Given the description of an element on the screen output the (x, y) to click on. 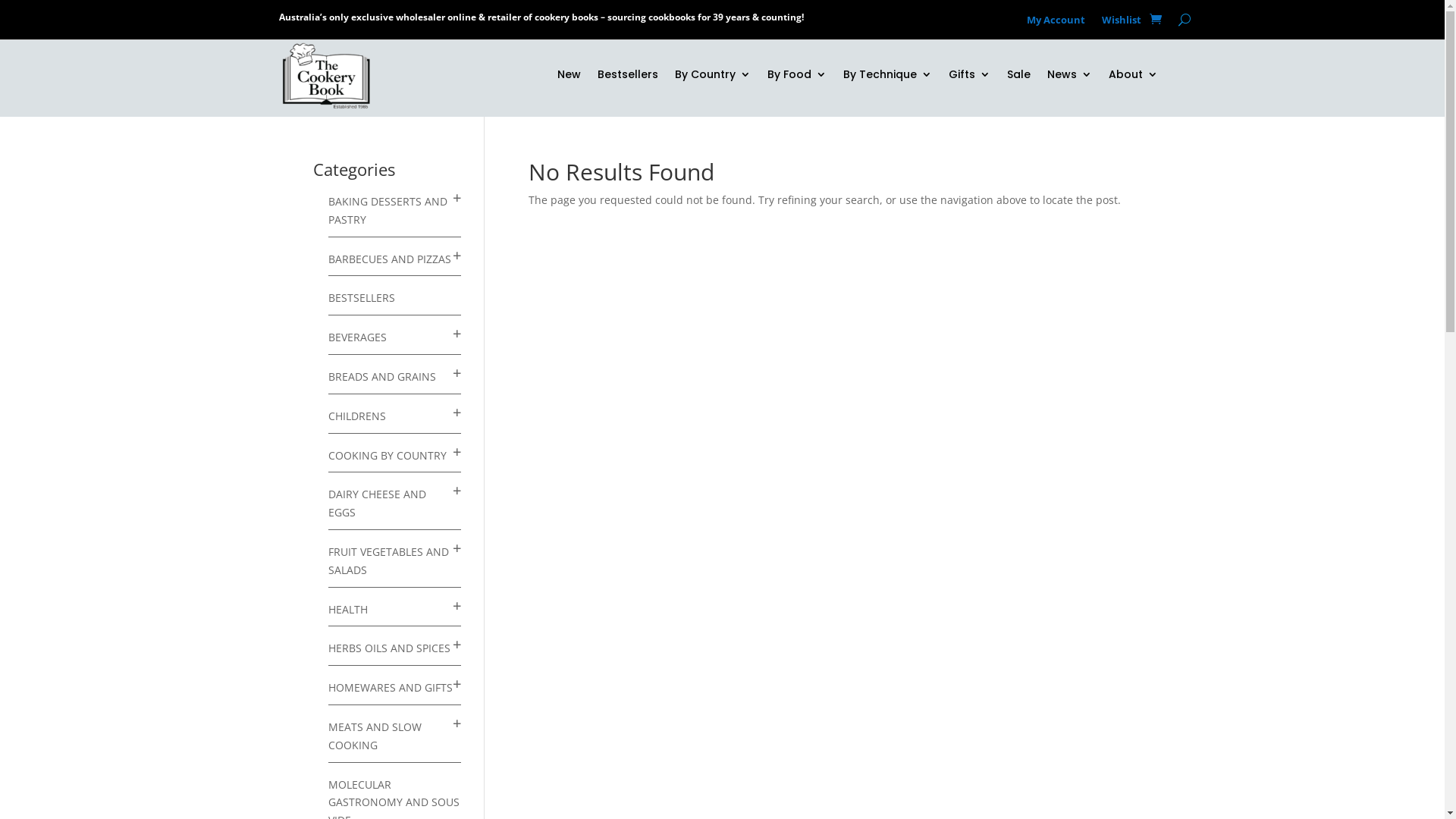
By Country Element type: text (712, 77)
By Technique Element type: text (887, 77)
Bestsellers Element type: text (627, 77)
BREADS AND GRAINS Element type: text (381, 376)
CHILDRENS Element type: text (356, 415)
Sale Element type: text (1018, 77)
Gifts Element type: text (969, 77)
cookery_logo Element type: hover (326, 76)
BEVERAGES Element type: text (356, 336)
FRUIT VEGETABLES AND SALADS Element type: text (387, 560)
About Element type: text (1132, 77)
Wishlist Element type: text (1121, 22)
BESTSELLERS Element type: text (360, 297)
News Element type: text (1069, 77)
BAKING DESSERTS AND PASTRY Element type: text (386, 210)
By Food Element type: text (796, 77)
COOKING BY COUNTRY Element type: text (386, 455)
HOMEWARES AND GIFTS Element type: text (389, 687)
BARBECUES AND PIZZAS Element type: text (388, 258)
MEATS AND SLOW COOKING Element type: text (373, 735)
DAIRY CHEESE AND EGGS Element type: text (376, 502)
New Element type: text (568, 77)
HEALTH Element type: text (347, 609)
HERBS OILS AND SPICES Element type: text (388, 647)
My Account Element type: text (1055, 22)
